Given the description of an element on the screen output the (x, y) to click on. 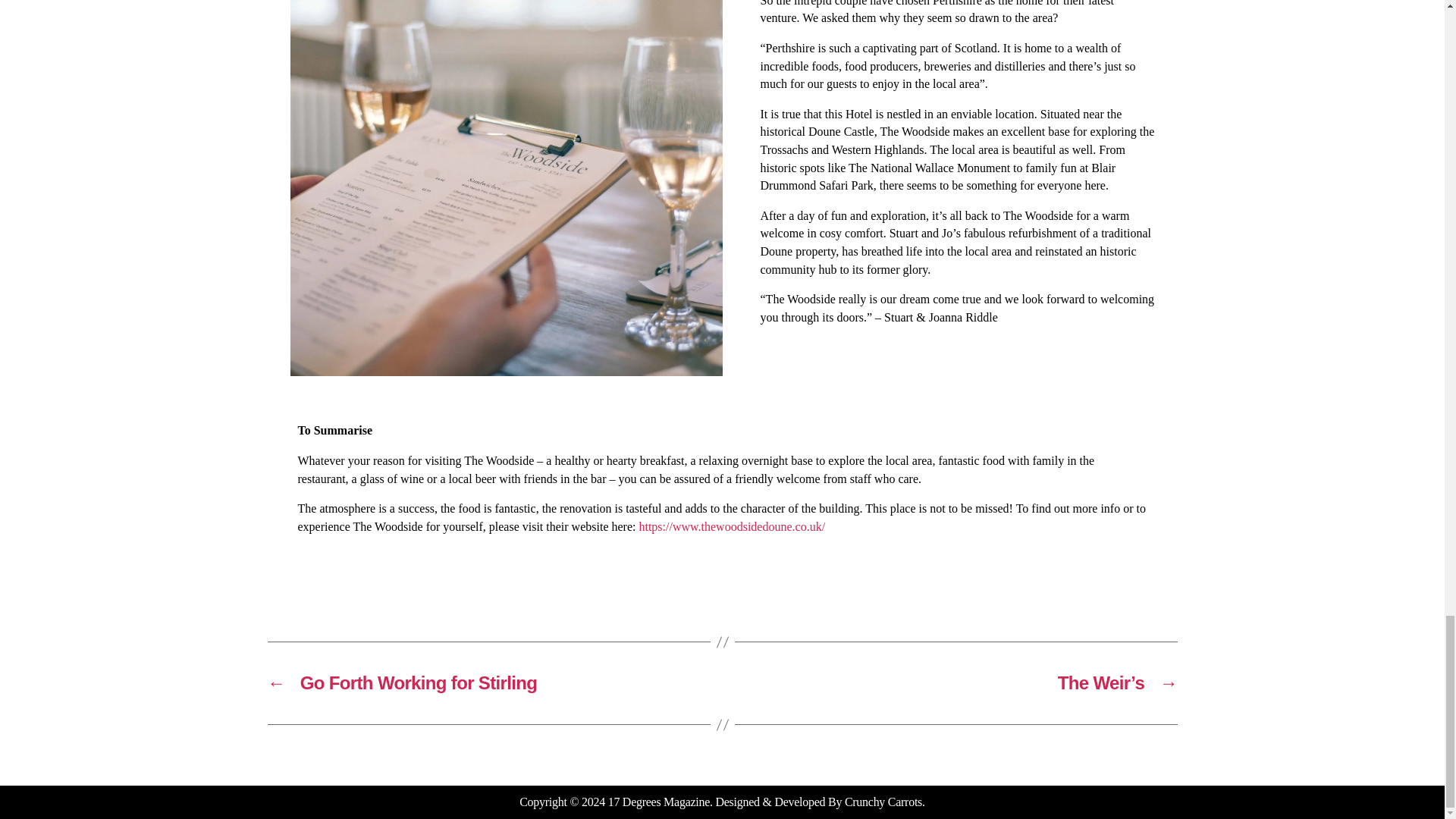
Crunchy Carrots. (884, 801)
